Given the description of an element on the screen output the (x, y) to click on. 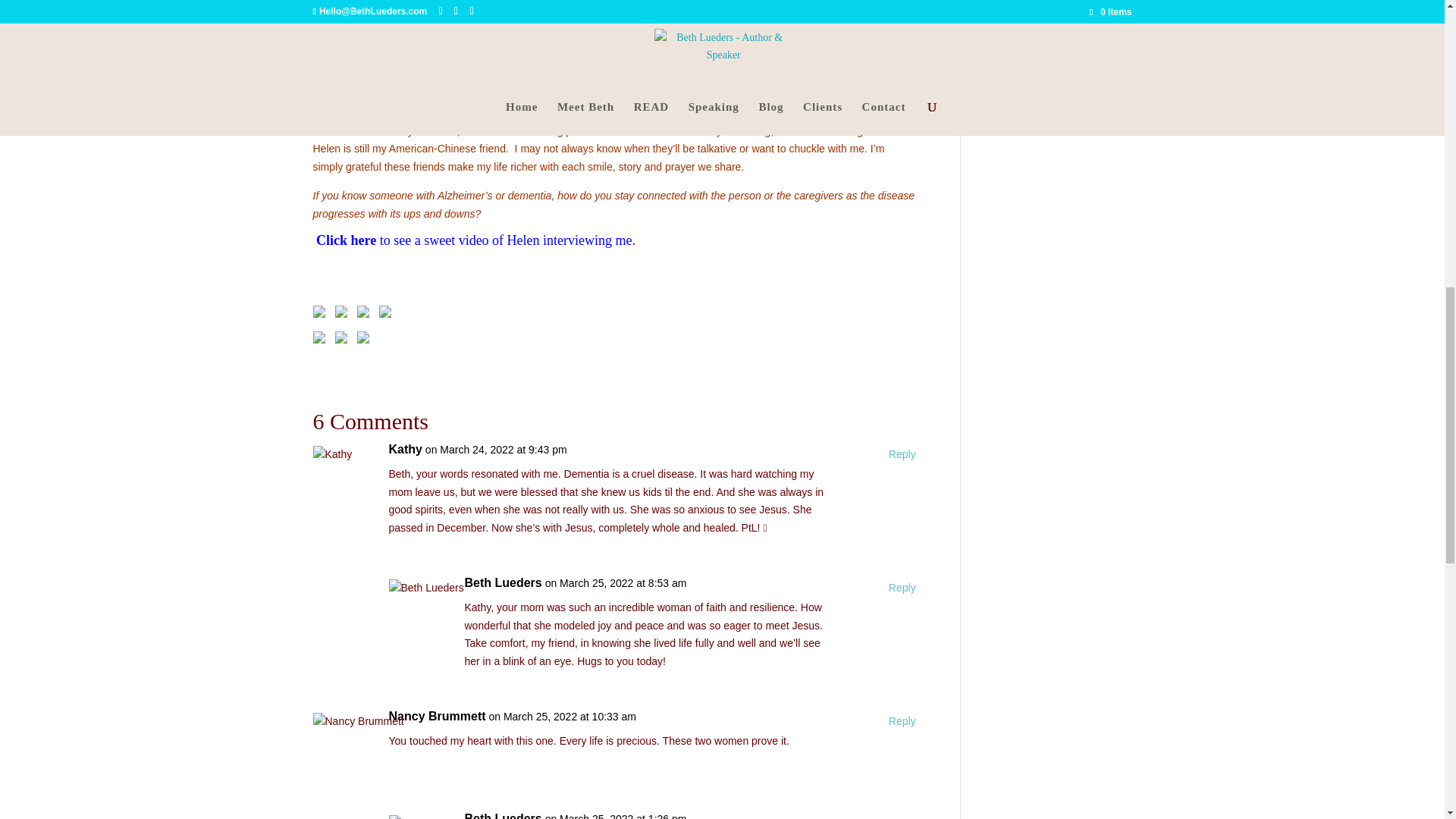
Find us on Linkedin (365, 314)
Follow us on Twitter (343, 314)
to (384, 240)
Reply (901, 588)
Reply (901, 721)
Reply (901, 454)
Click here (345, 240)
Reply (901, 816)
Nancy Brummett (436, 716)
Follow us on Facebook (321, 314)
Subscribe to our RSS Feed (387, 314)
Share on Twitter (343, 340)
